Given the description of an element on the screen output the (x, y) to click on. 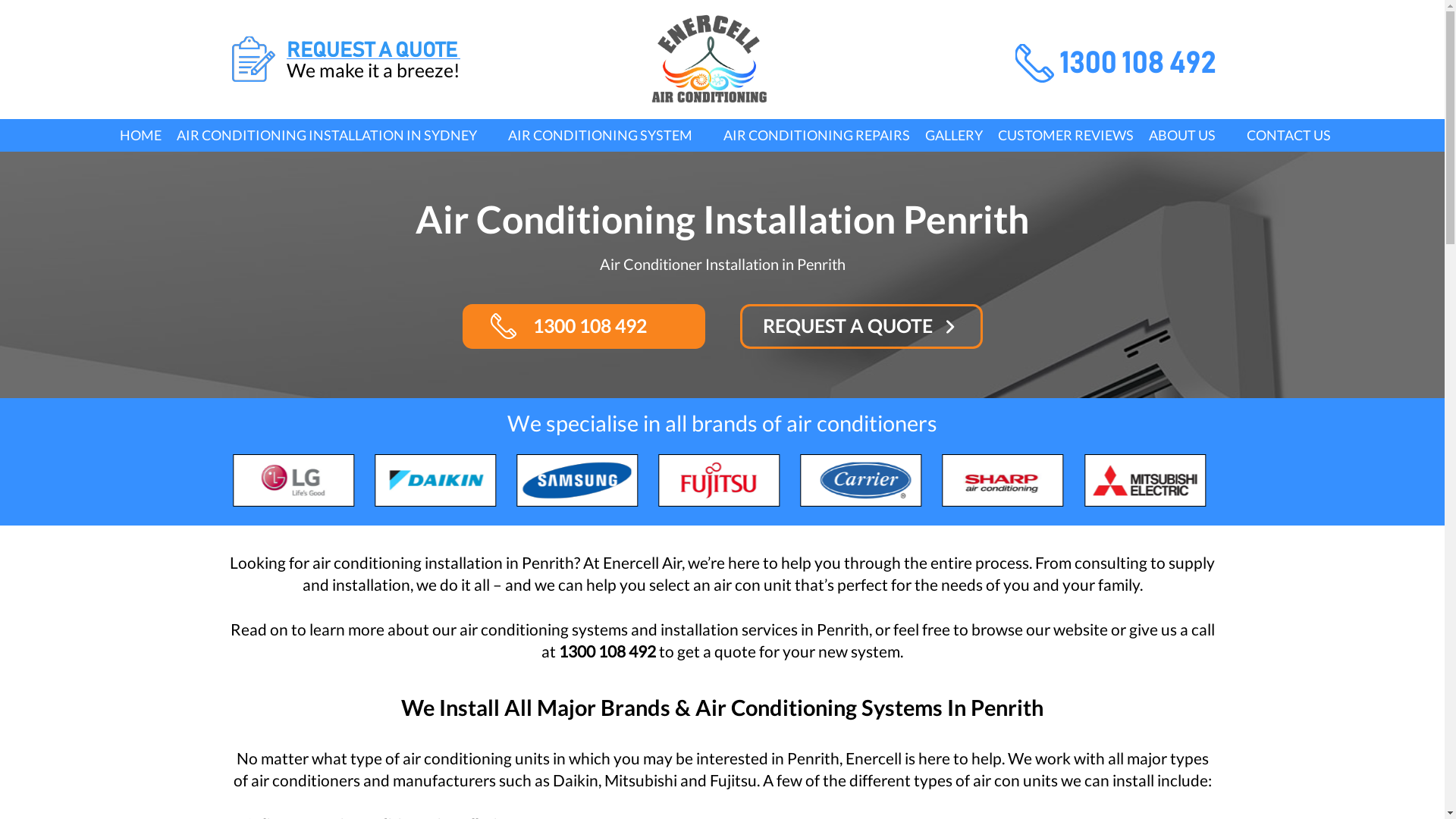
ABOUT US Element type: text (1190, 135)
AIR CONDITIONING SYSTEM Element type: text (607, 135)
REQUEST A QUOTE
We make it a breeze! Element type: text (344, 57)
1300 108 492 Element type: text (583, 326)
GALLERY Element type: text (953, 135)
REQUEST A QUOTE Element type: text (861, 326)
1300 108 492 Element type: text (1108, 63)
Enercell Air Conditioning Element type: hover (708, 58)
CONTACT US Element type: text (1287, 135)
CUSTOMER REVIEWS Element type: text (1065, 135)
HOME Element type: text (141, 135)
AIR CONDITIONING INSTALLATION IN SYDNEY Element type: text (334, 135)
AIR CONDITIONING REPAIRS Element type: text (816, 135)
